Given the description of an element on the screen output the (x, y) to click on. 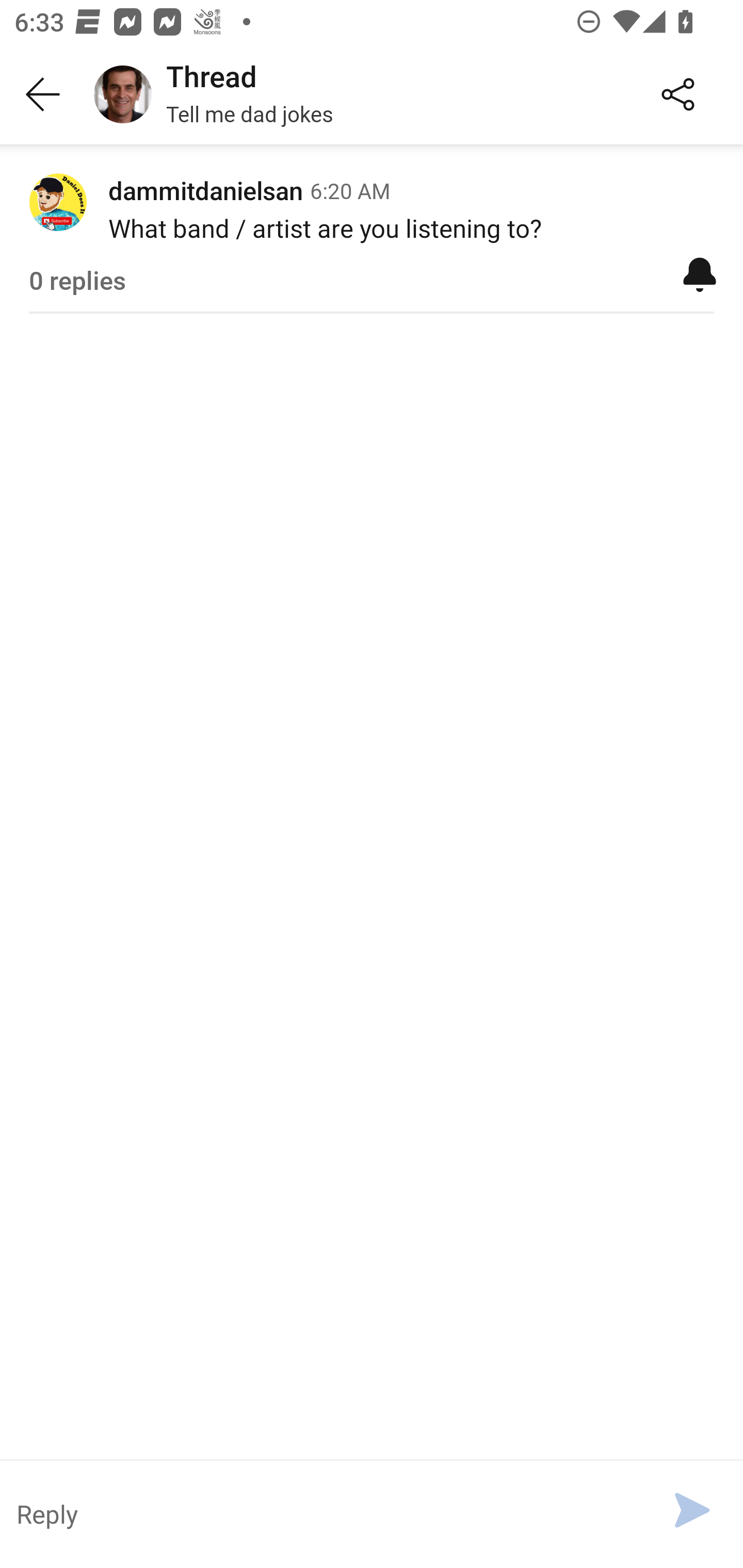
Back (43, 94)
Share (677, 94)
Mute (699, 273)
Send message (692, 1510)
Message Reply (324, 1513)
